Given the description of an element on the screen output the (x, y) to click on. 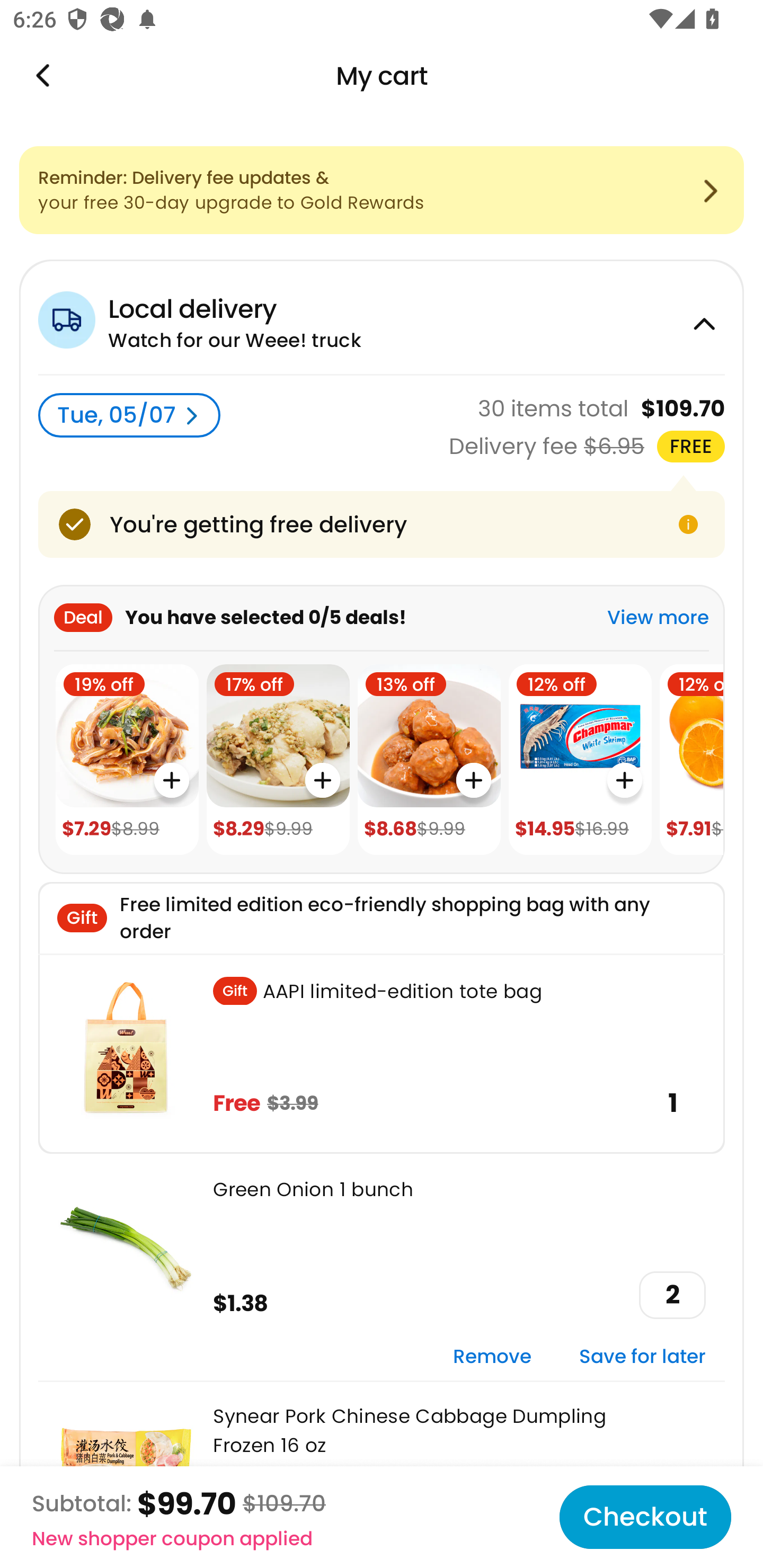
Local delivery Watch for our Weee! truck (381, 317)
Tue, 05/07 (129, 415)
You're getting free delivery (381, 524)
19% off $7.29 $8.99 (126, 759)
17% off $8.29 $9.99 (277, 759)
13% off $8.68 $9.99 (428, 759)
12% off $14.95 $16.99 (579, 759)
. AAPI limited-edition tote bag Free $3.99 1 (381, 1053)
Green Onion 1 bunch $1.38 2 Remove Save for later (381, 1266)
2 (672, 1294)
Remove (491, 1356)
Save for later (642, 1356)
Checkout (644, 1516)
